Given the description of an element on the screen output the (x, y) to click on. 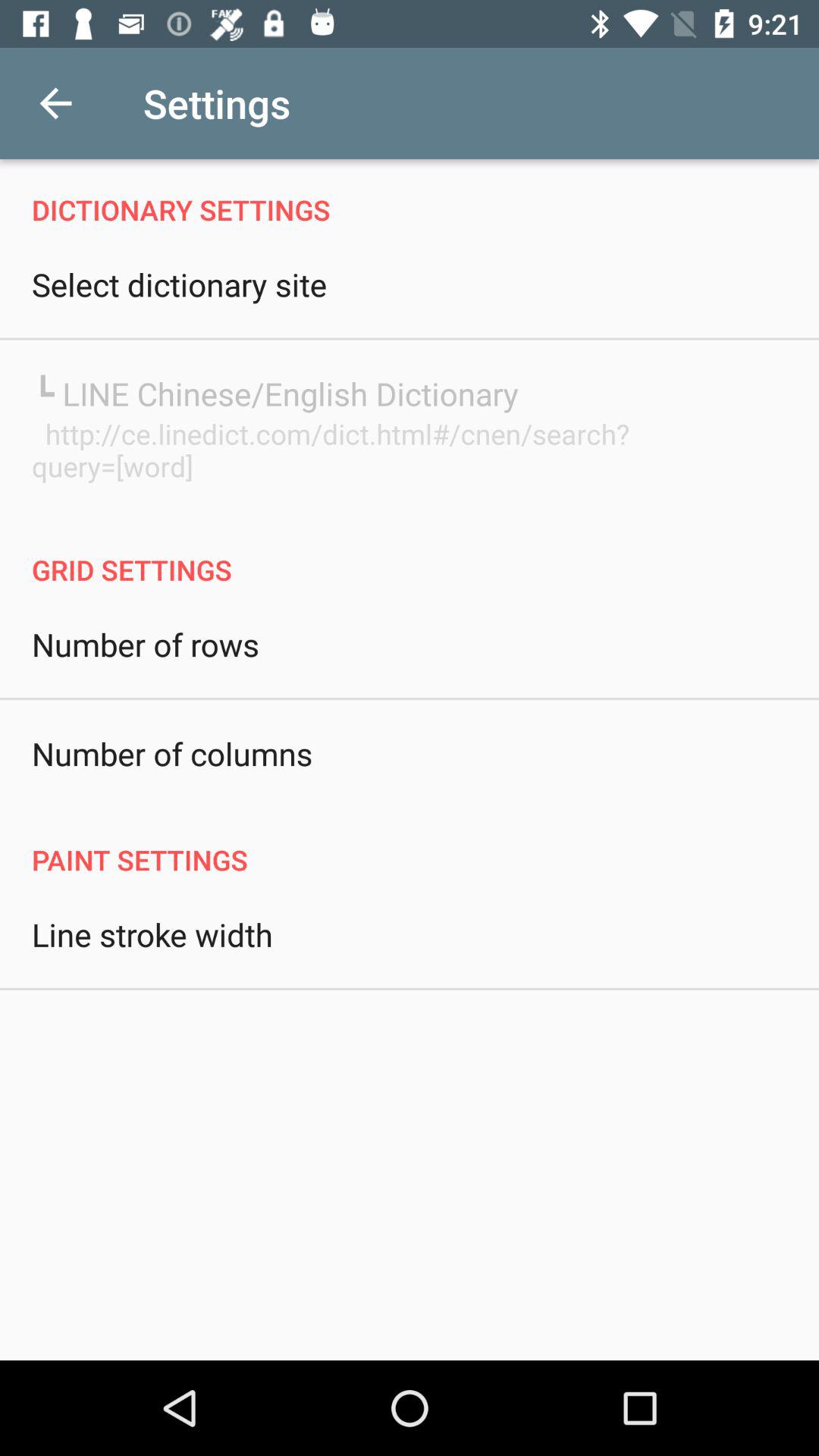
scroll to line stroke width icon (152, 934)
